Given the description of an element on the screen output the (x, y) to click on. 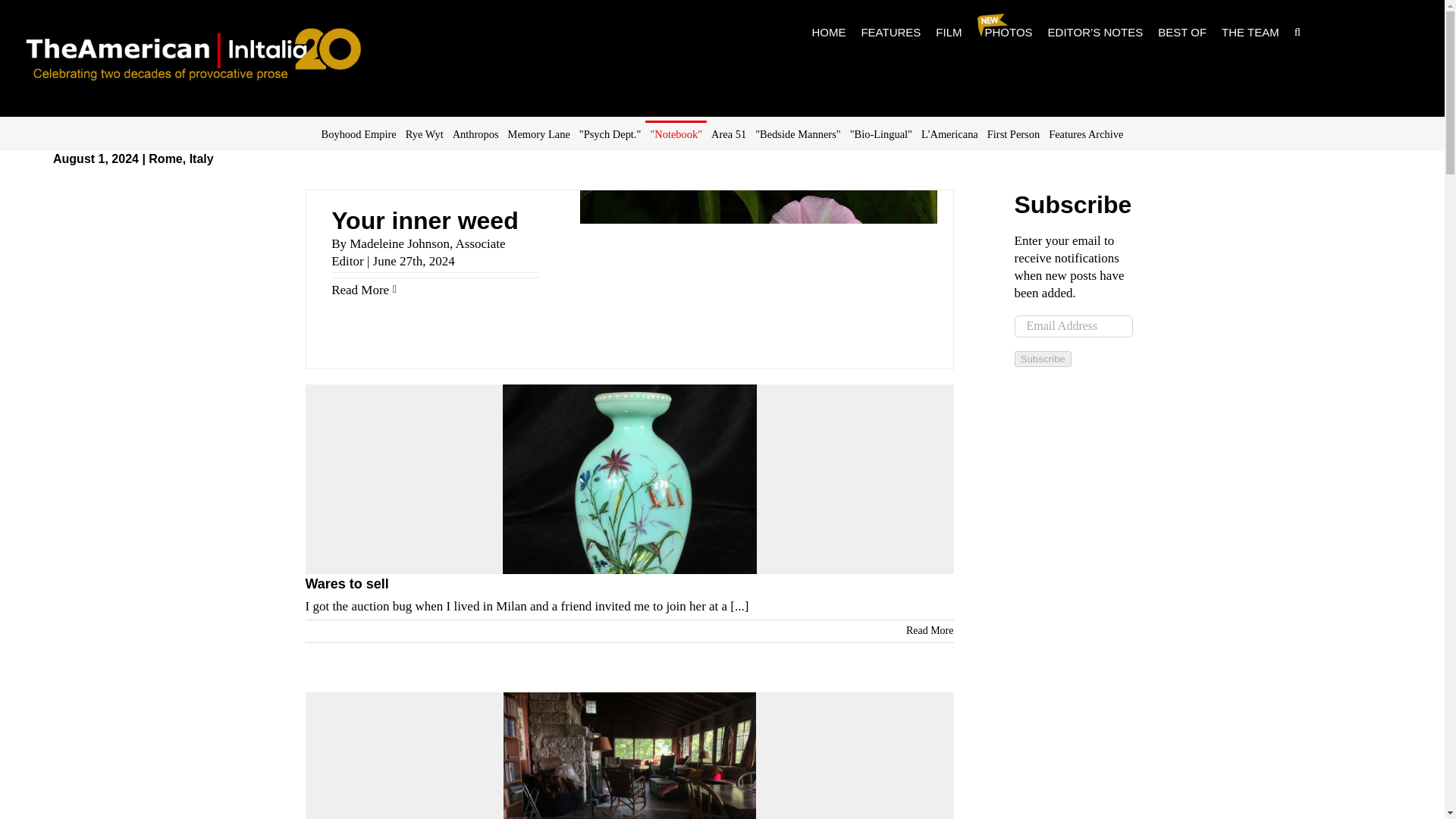
BEST OF (1182, 31)
PHOTOS (1005, 31)
FEATURES (890, 31)
